Given the description of an element on the screen output the (x, y) to click on. 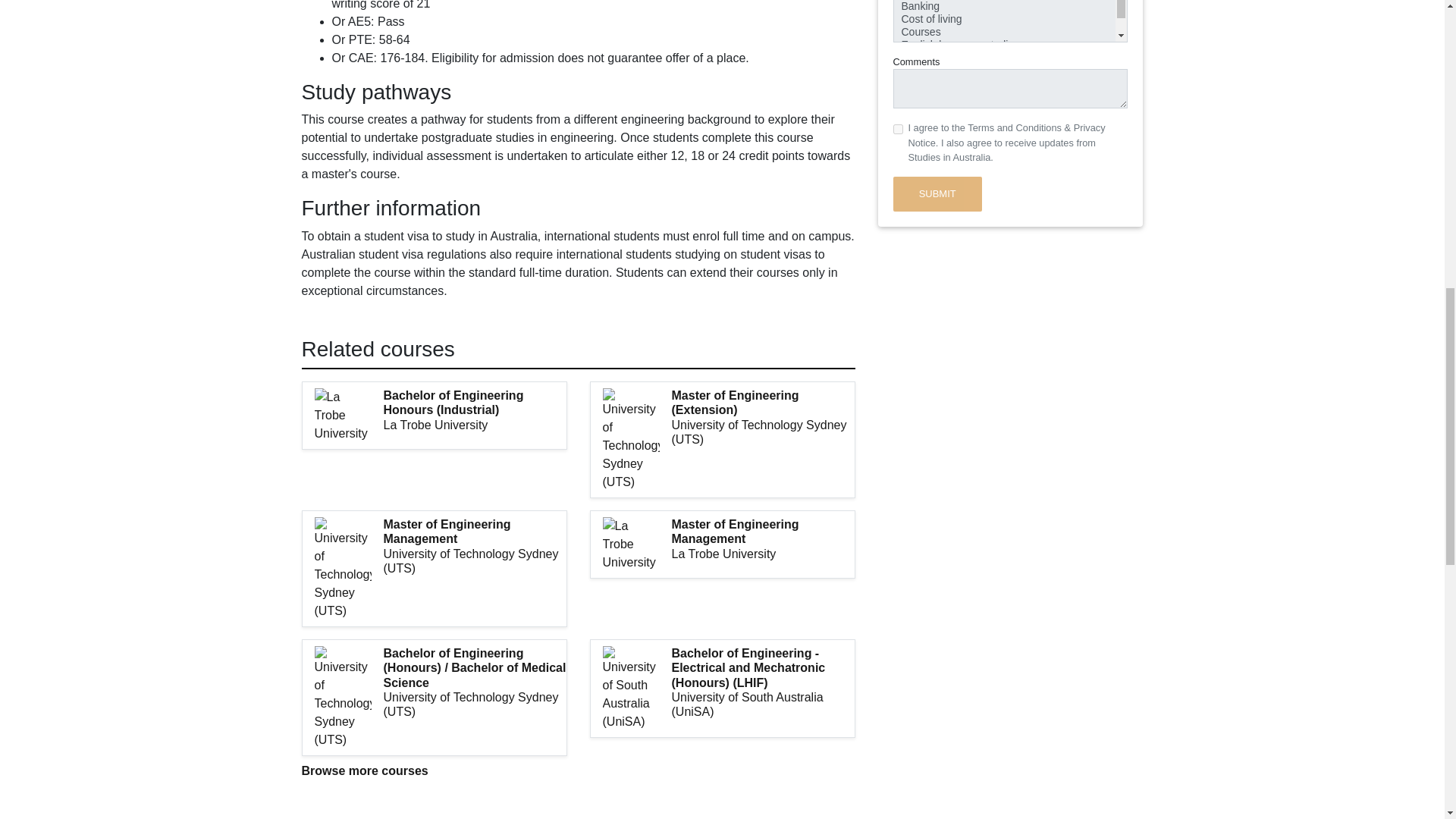
Master of Engineering Management (762, 531)
Master of Engineering Management (475, 531)
Browse more courses (364, 770)
SUBMIT (937, 193)
La Trobe University (762, 554)
La Trobe University (475, 424)
yes (897, 129)
